Given the description of an element on the screen output the (x, y) to click on. 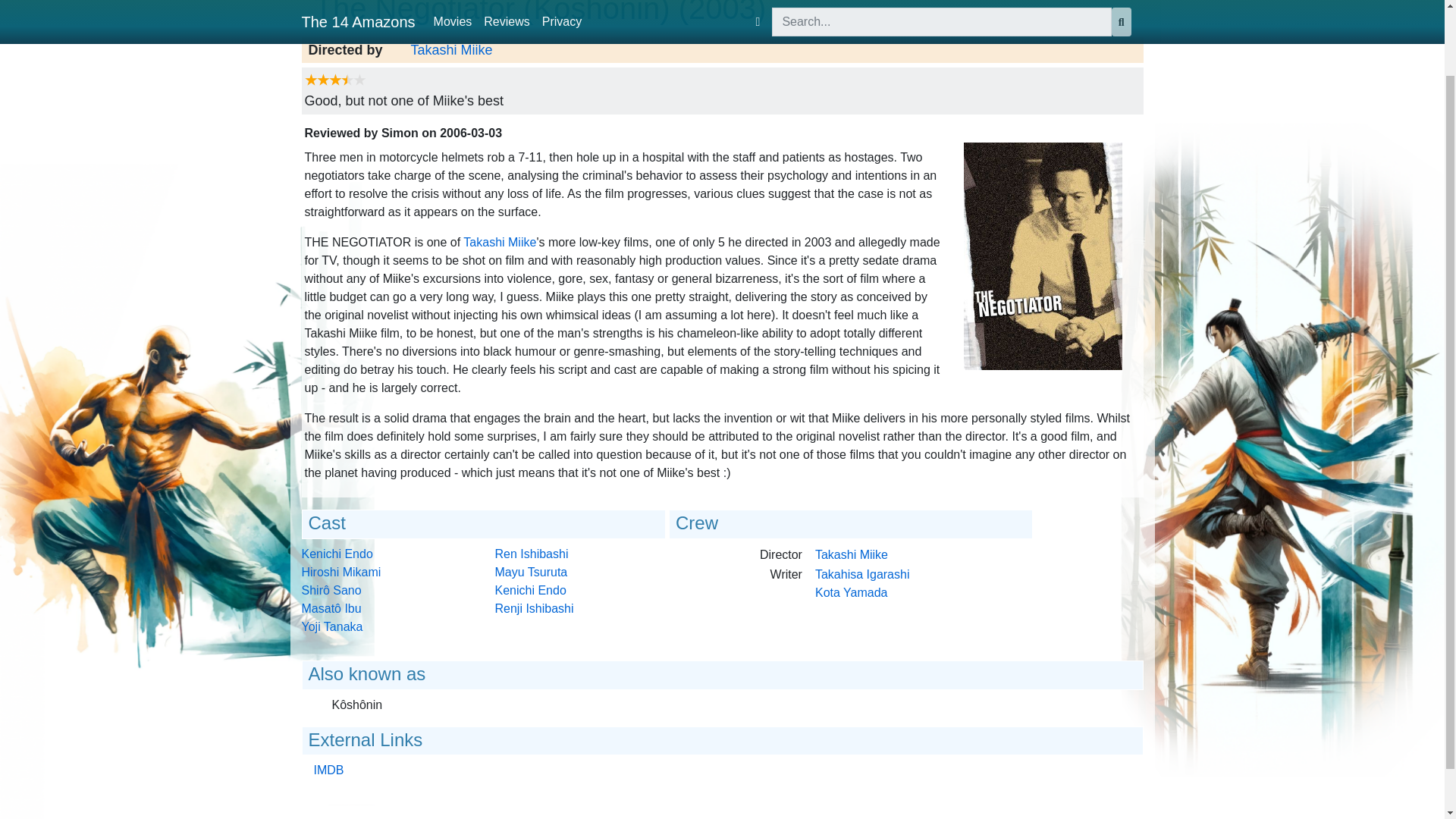
Ren Ishibashi (531, 553)
Renji Ishibashi (534, 608)
Kenichi Endo (336, 553)
Takashi Miike (499, 241)
Hiroshi Mikami (341, 571)
Takahisa Igarashi (862, 574)
Kenichi Endo (530, 590)
IMDB (328, 769)
Takashi Miike (851, 554)
Yoji Tanaka (331, 626)
Kota Yamada (850, 592)
Mayu Tsuruta (531, 571)
Takashi Miike (451, 50)
